Given the description of an element on the screen output the (x, y) to click on. 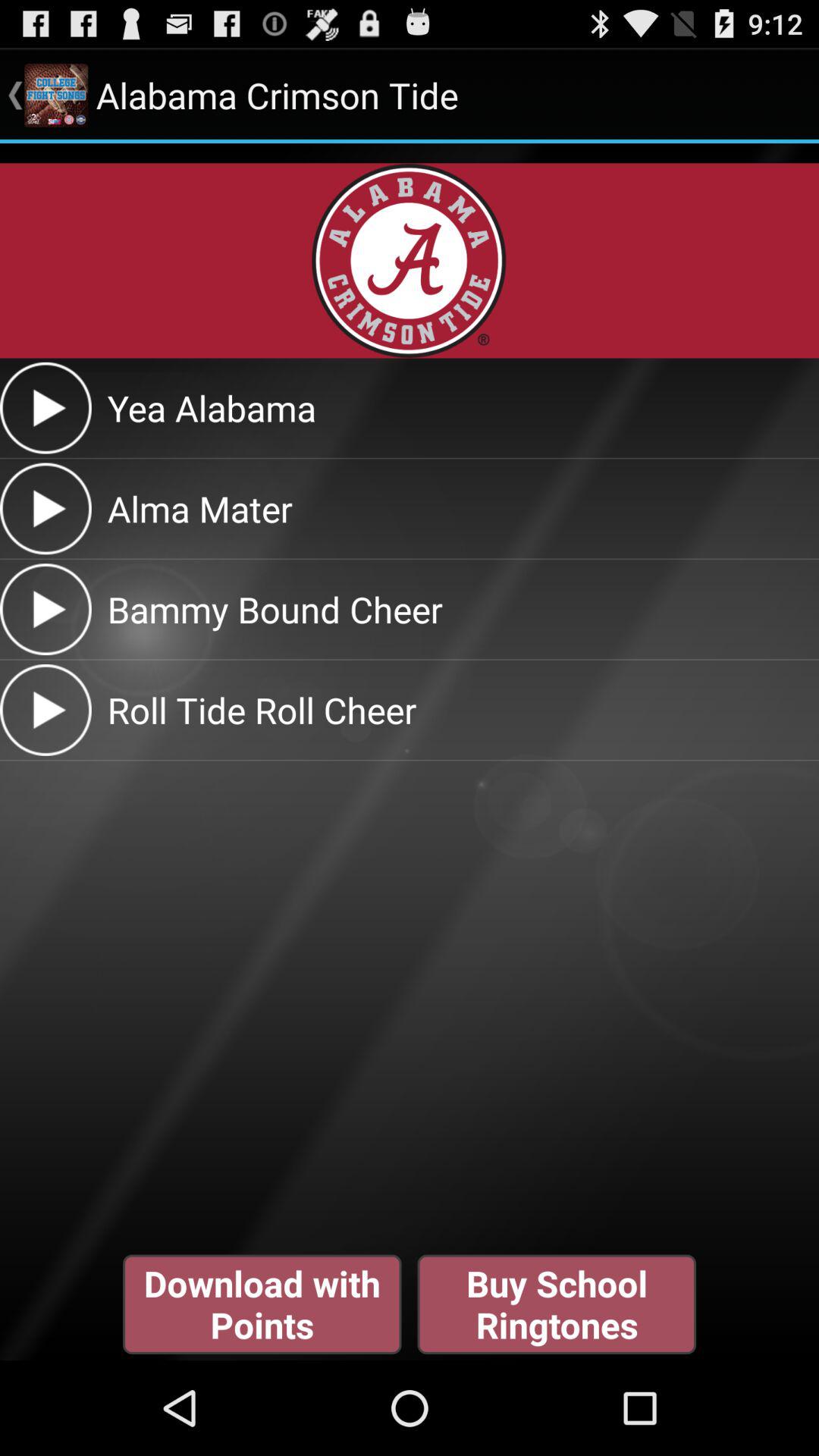
play patton (45, 609)
